Given the description of an element on the screen output the (x, y) to click on. 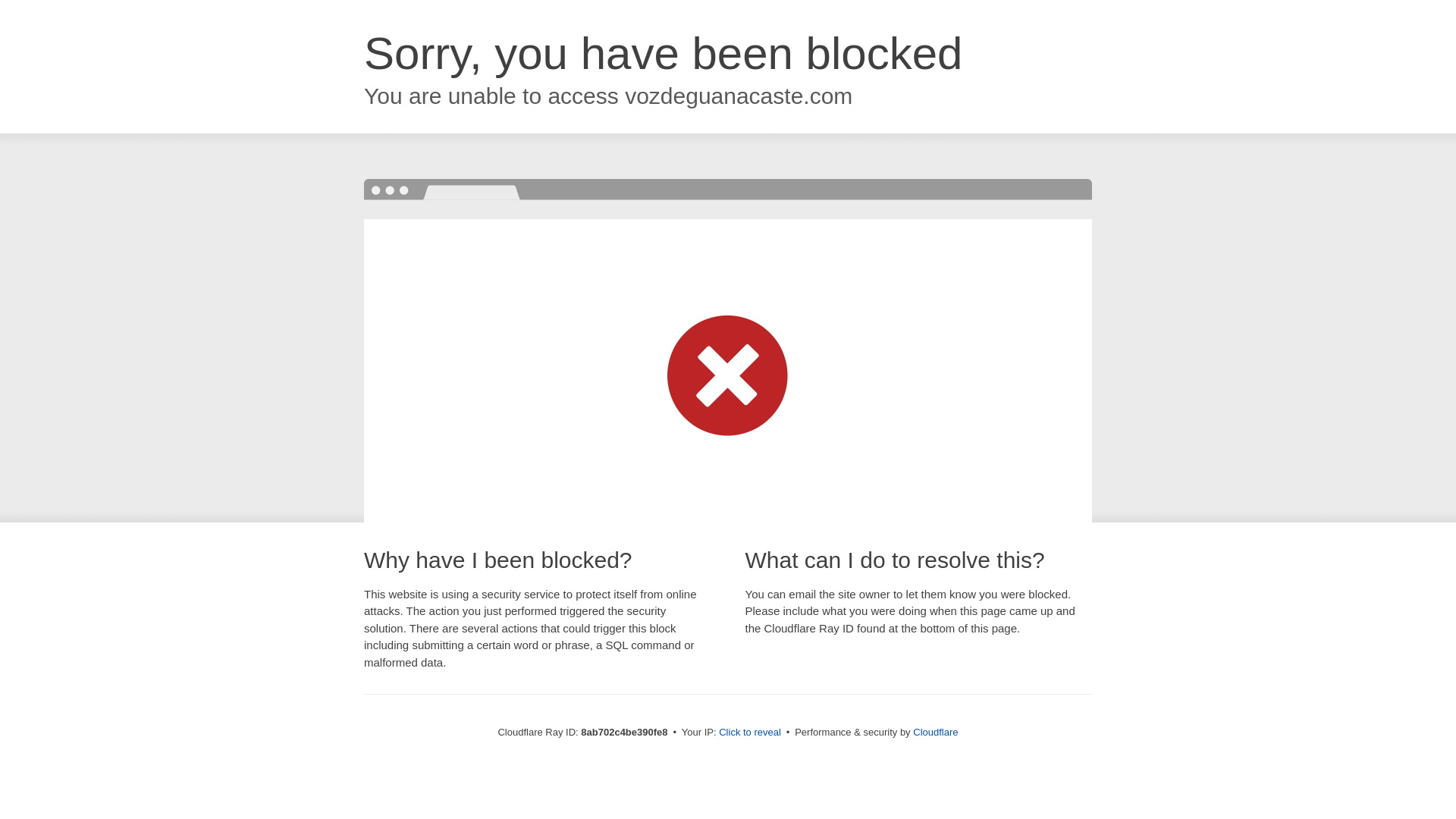
Cloudflare (935, 731)
Click to reveal (749, 732)
